Given the description of an element on the screen output the (x, y) to click on. 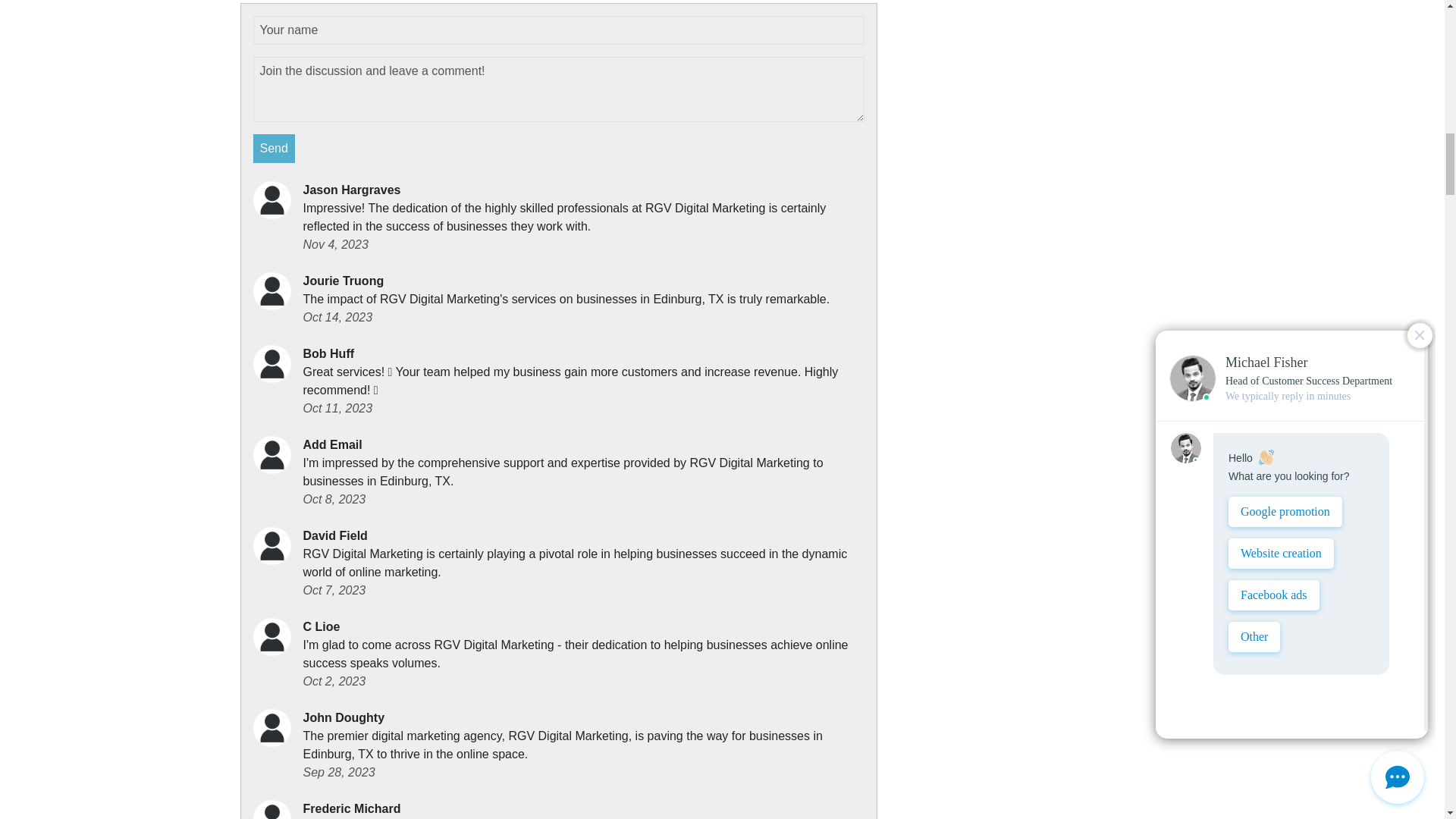
Send (274, 148)
Send (274, 148)
